Given the description of an element on the screen output the (x, y) to click on. 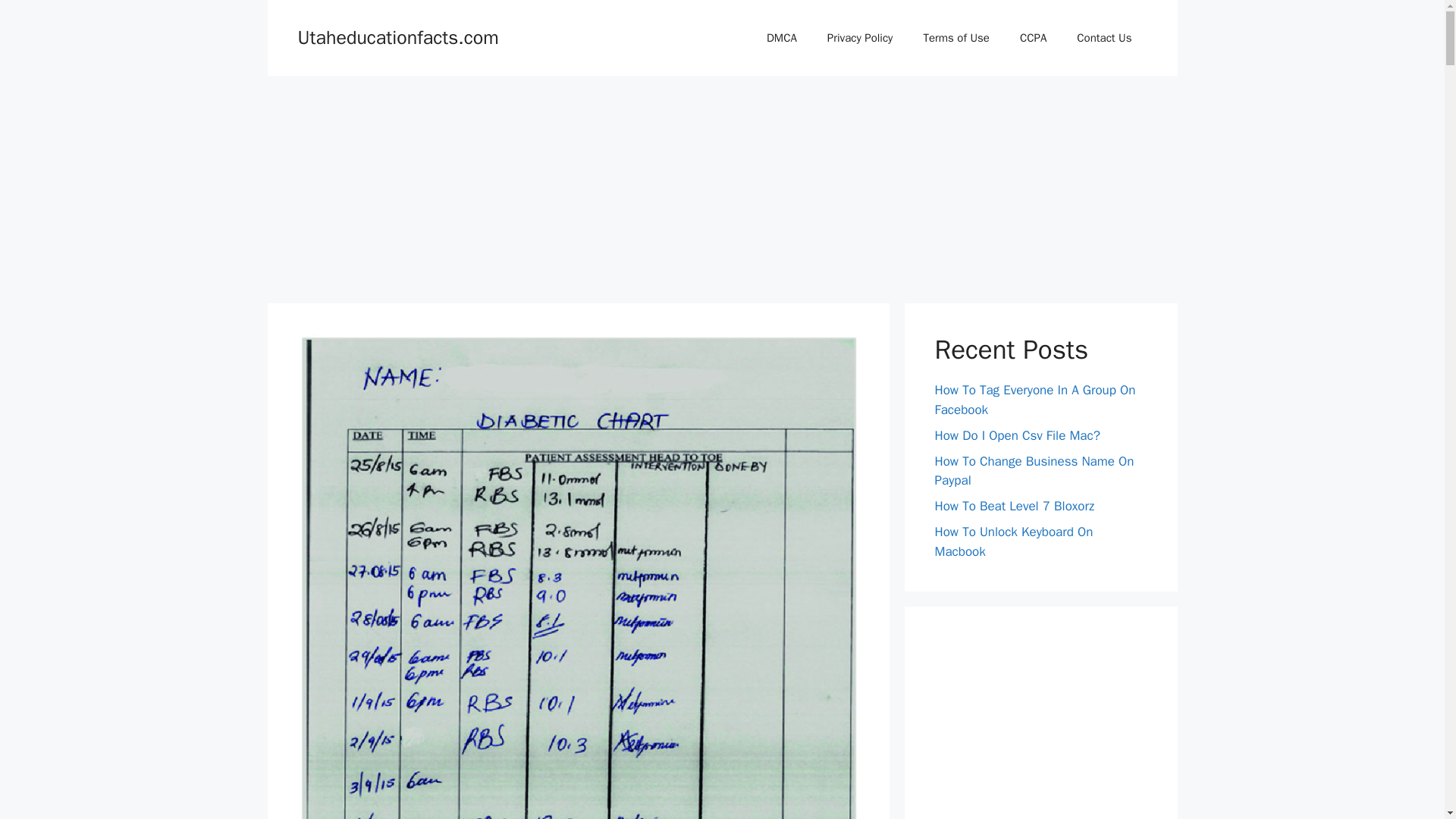
Privacy Policy (860, 37)
How To Unlock Keyboard On Macbook (1013, 541)
How Do I Open Csv File Mac? (1016, 435)
Contact Us (1104, 37)
How To Change Business Name On Paypal (1034, 470)
CCPA (1032, 37)
Utaheducationfacts.com (397, 37)
DMCA (781, 37)
How To Tag Everyone In A Group On Facebook (1034, 399)
Terms of Use (955, 37)
How To Beat Level 7 Bloxorz (1014, 505)
